Given the description of an element on the screen output the (x, y) to click on. 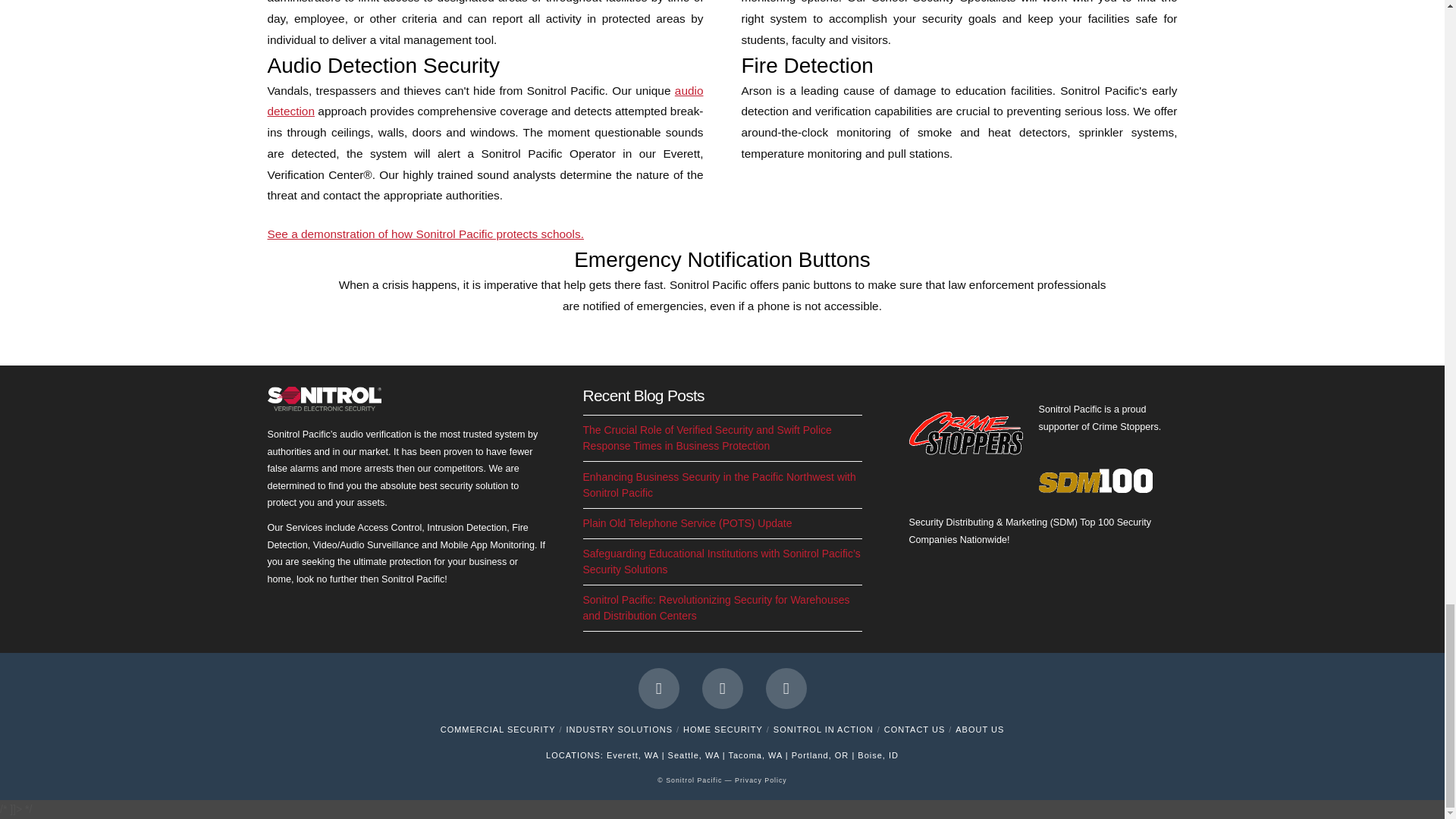
LinkedIn (785, 688)
Facebook (659, 688)
